Given the description of an element on the screen output the (x, y) to click on. 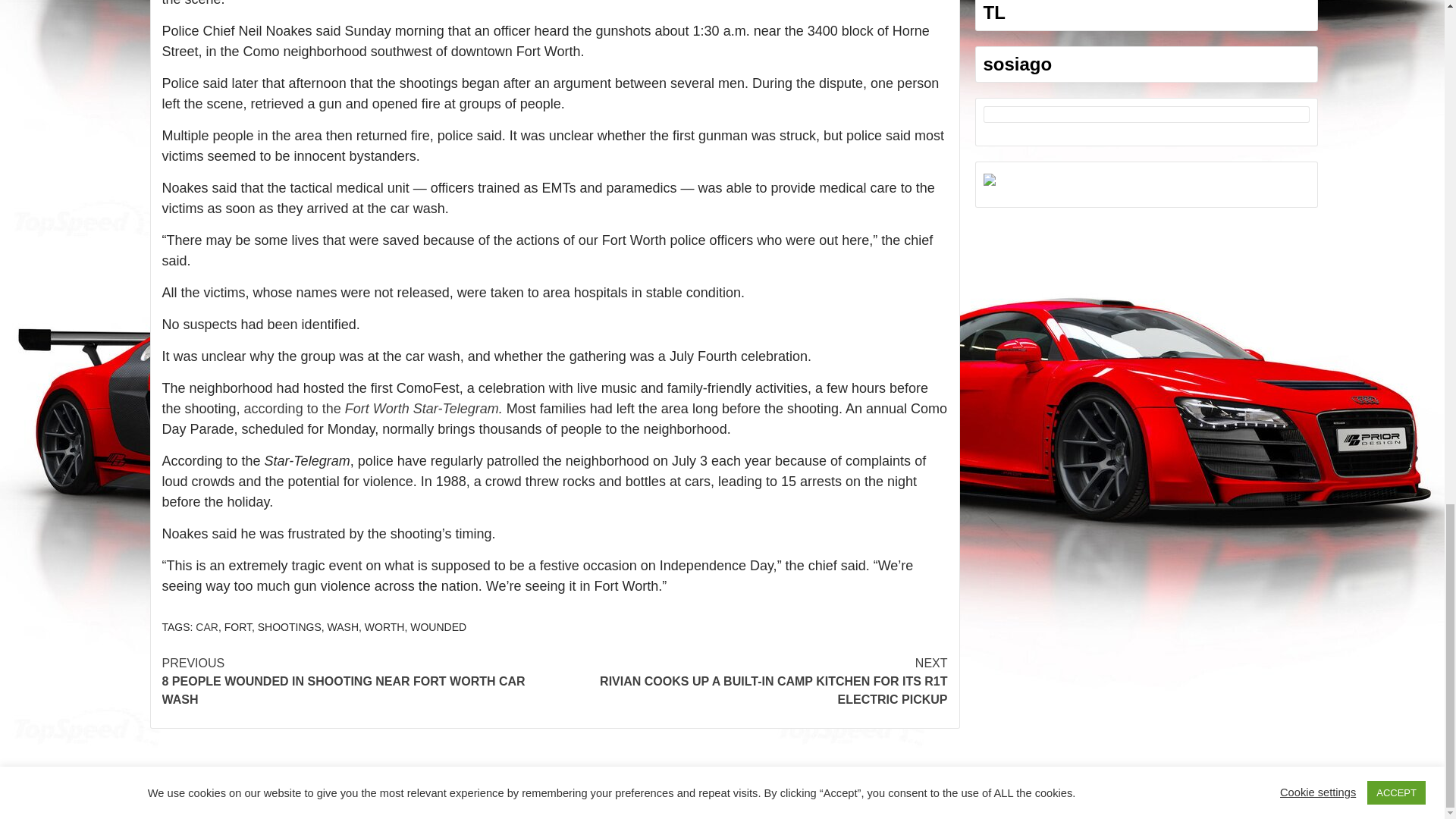
Magazine 7 (801, 793)
CAR (206, 626)
according to the Fort Worth Star-Telegram (371, 408)
